Given the description of an element on the screen output the (x, y) to click on. 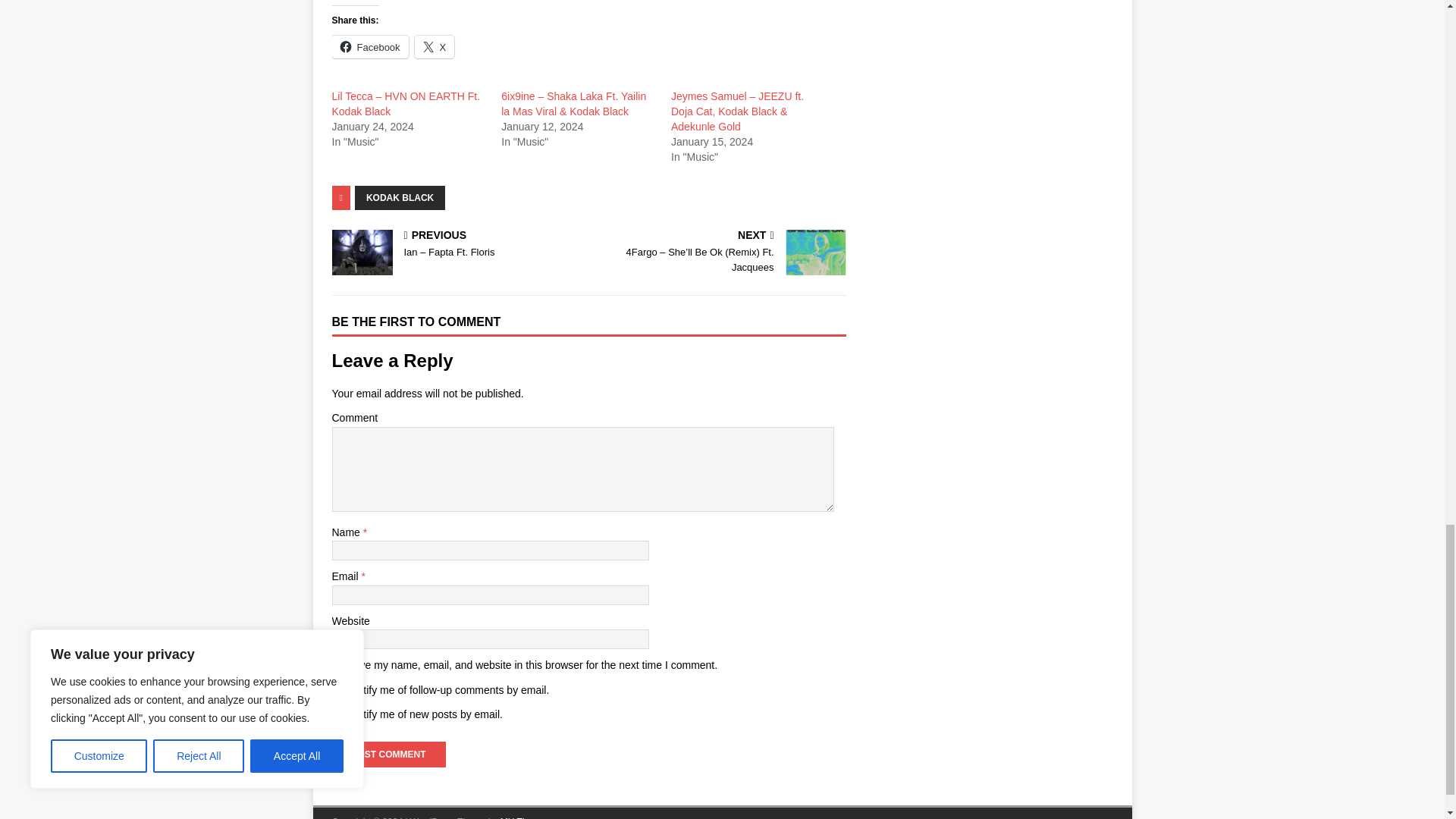
Post Comment (388, 754)
Facebook (370, 47)
X (434, 47)
yes (339, 665)
Click to share on X (434, 47)
subscribe (339, 690)
subscribe (339, 715)
Click to share on Facebook (370, 47)
